Given the description of an element on the screen output the (x, y) to click on. 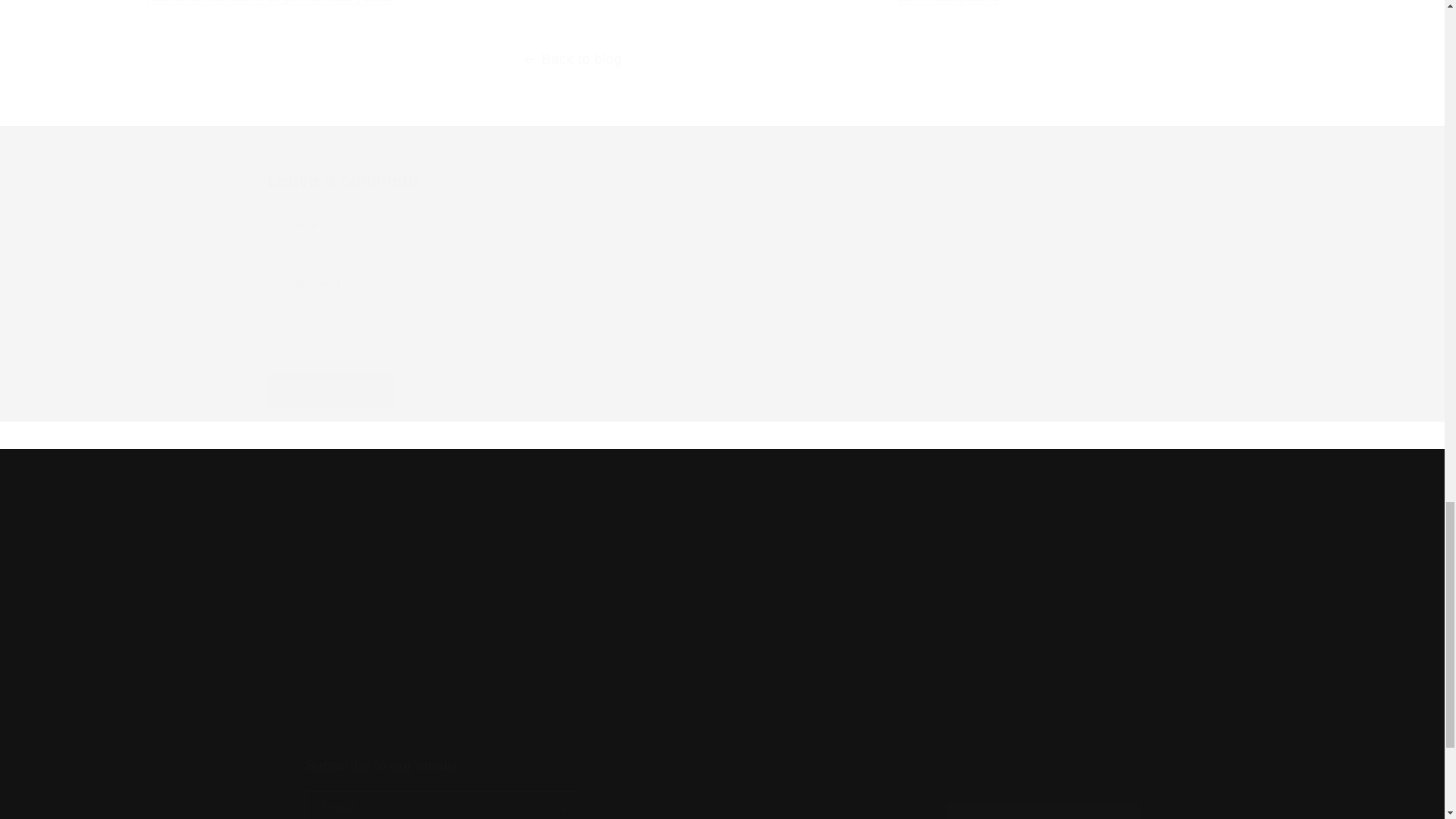
Post comment (330, 391)
LoFi Panda Jams (721, 788)
Back to blog (785, 4)
Back to blog (1001, 628)
